Given the description of an element on the screen output the (x, y) to click on. 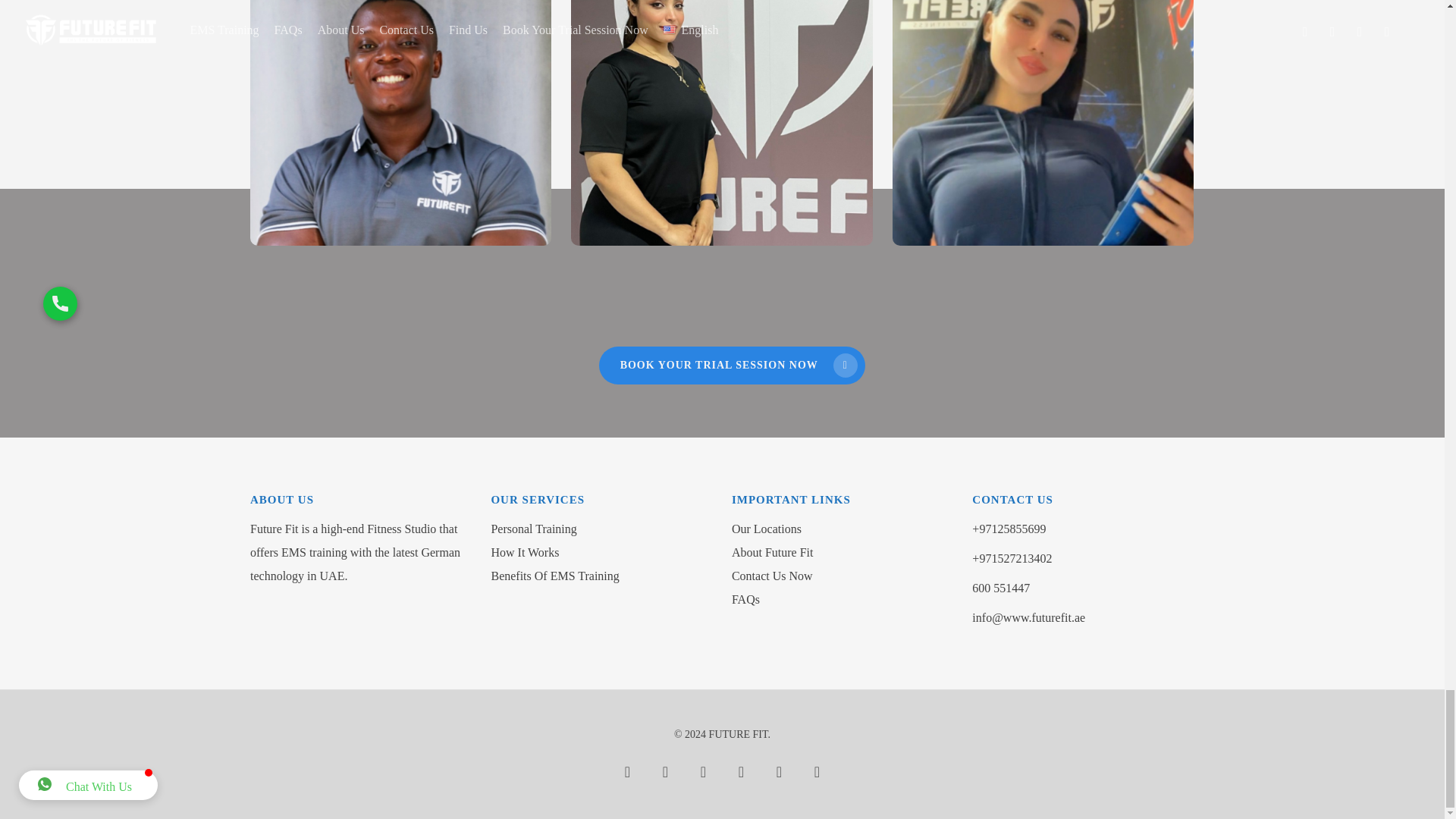
Personal Training (601, 527)
How It Works (601, 552)
Our Locations (842, 527)
Benefits Of EMS Training (601, 575)
About Future Fit (842, 552)
BOOK YOUR TRIAL SESSION NOW (731, 365)
